Given the description of an element on the screen output the (x, y) to click on. 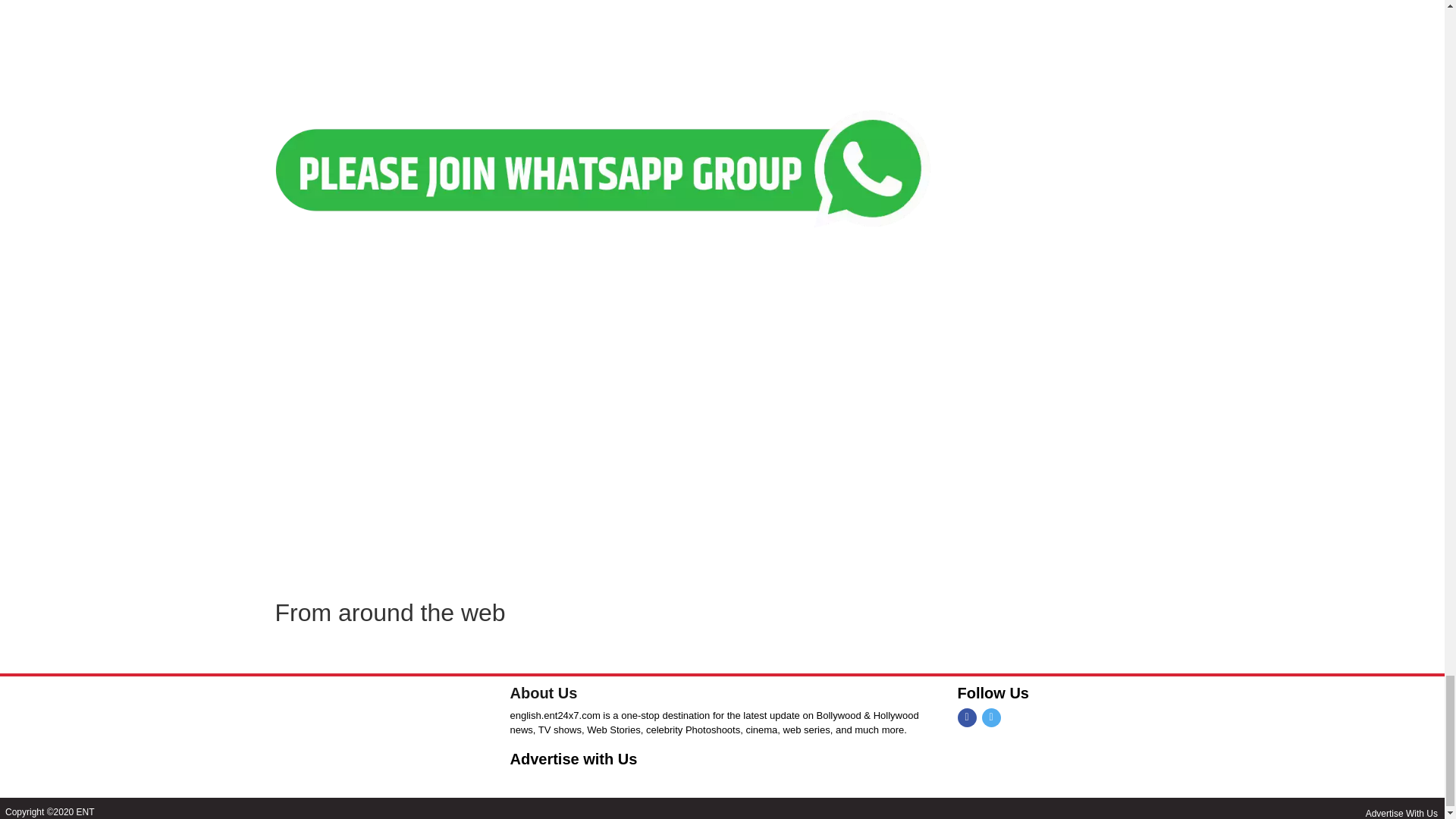
Facebook (965, 717)
About Us (542, 692)
Twitter (990, 717)
